Given the description of an element on the screen output the (x, y) to click on. 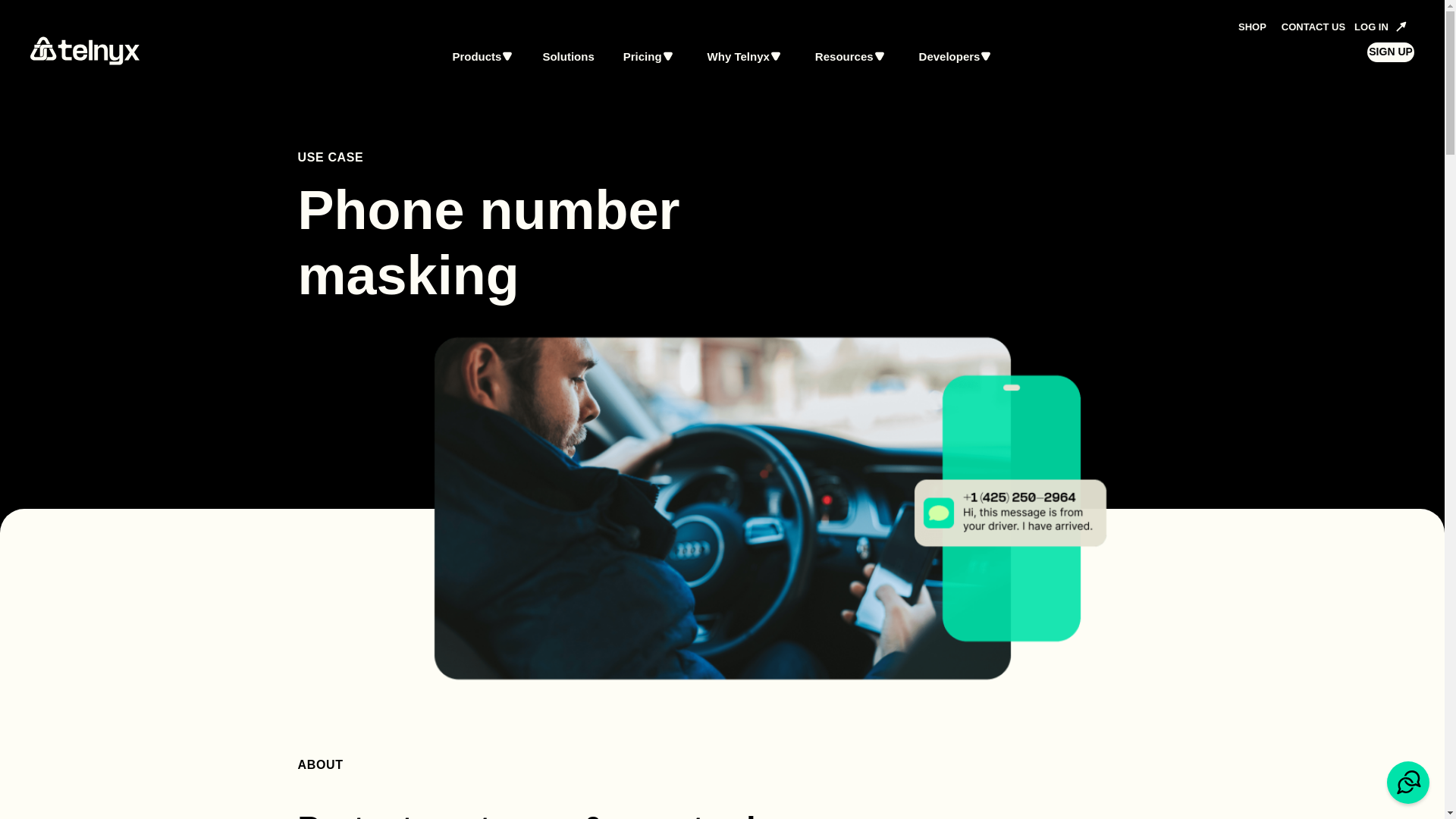
LOG IN (1380, 27)
Pricing (648, 56)
Solutions (567, 56)
Why Telnyx (743, 56)
CONTACT US (1310, 27)
SIGN UP (1390, 52)
Home (84, 60)
Resources (849, 56)
Developers (955, 56)
Products (482, 56)
